Given the description of an element on the screen output the (x, y) to click on. 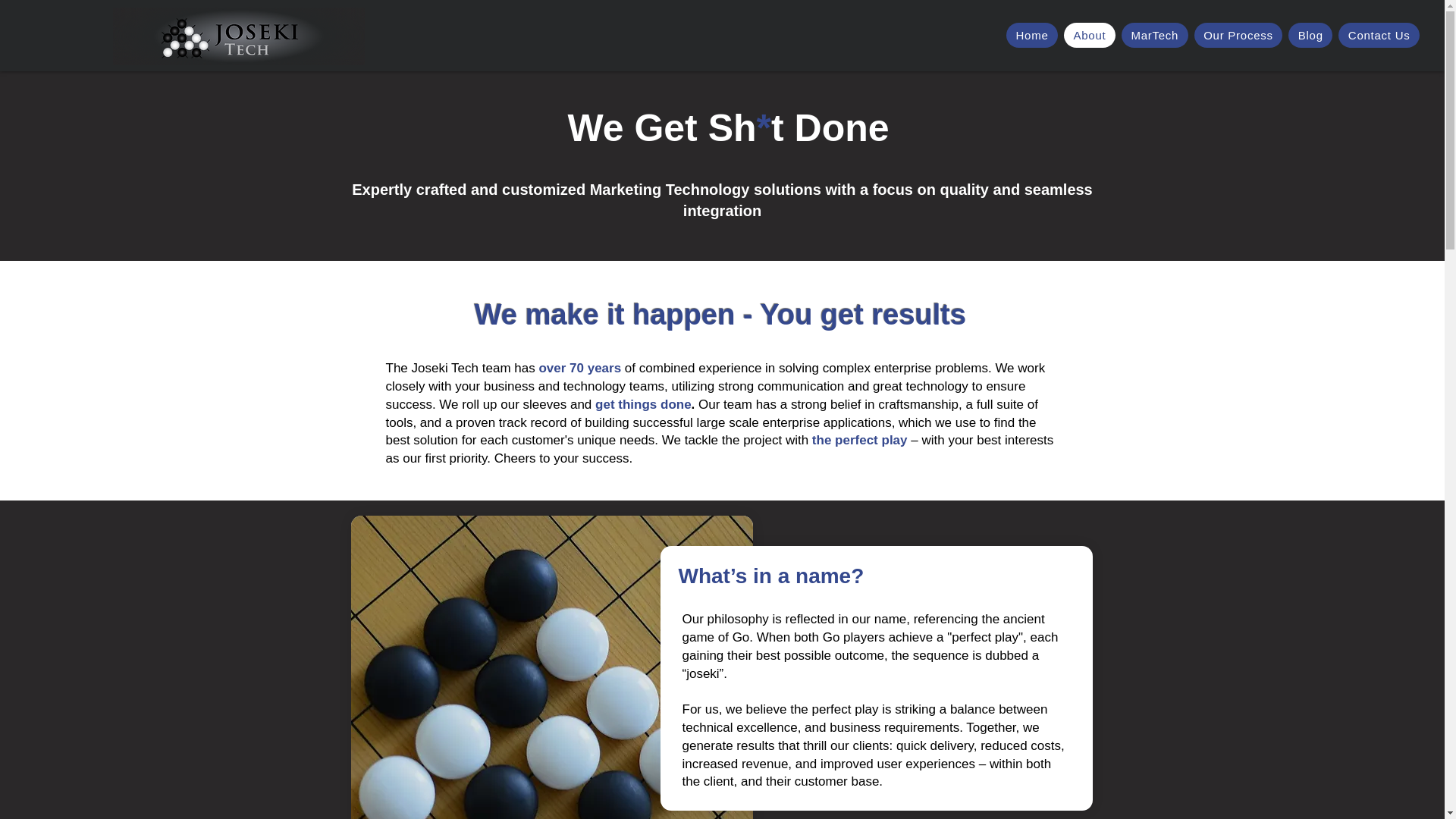
About (1089, 34)
Blog (1310, 34)
MarTech (1154, 34)
Contact Us (1378, 34)
Home (1032, 34)
Our Process (1237, 34)
